Given the description of an element on the screen output the (x, y) to click on. 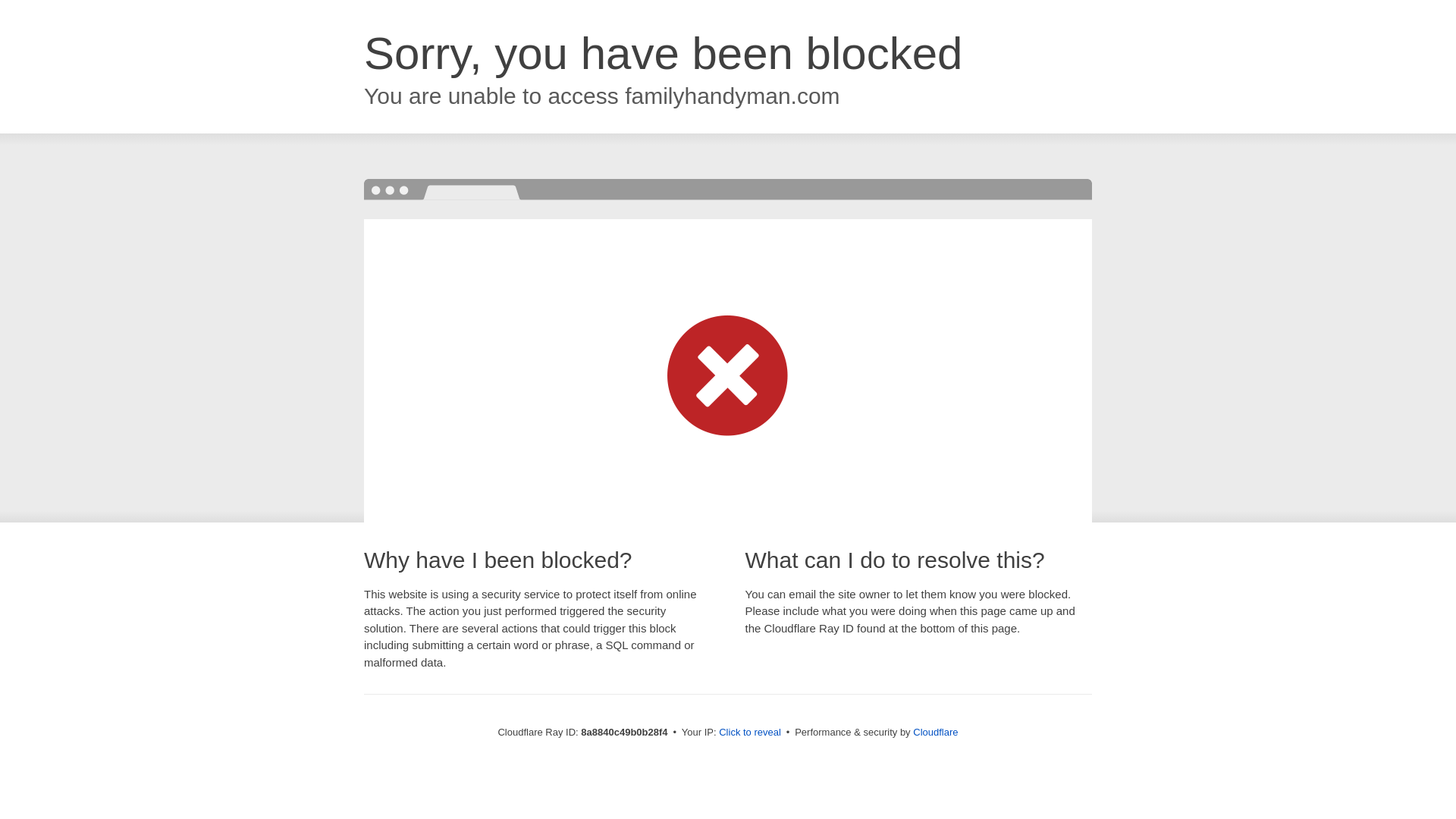
Cloudflare (935, 731)
Click to reveal (749, 732)
